Given the description of an element on the screen output the (x, y) to click on. 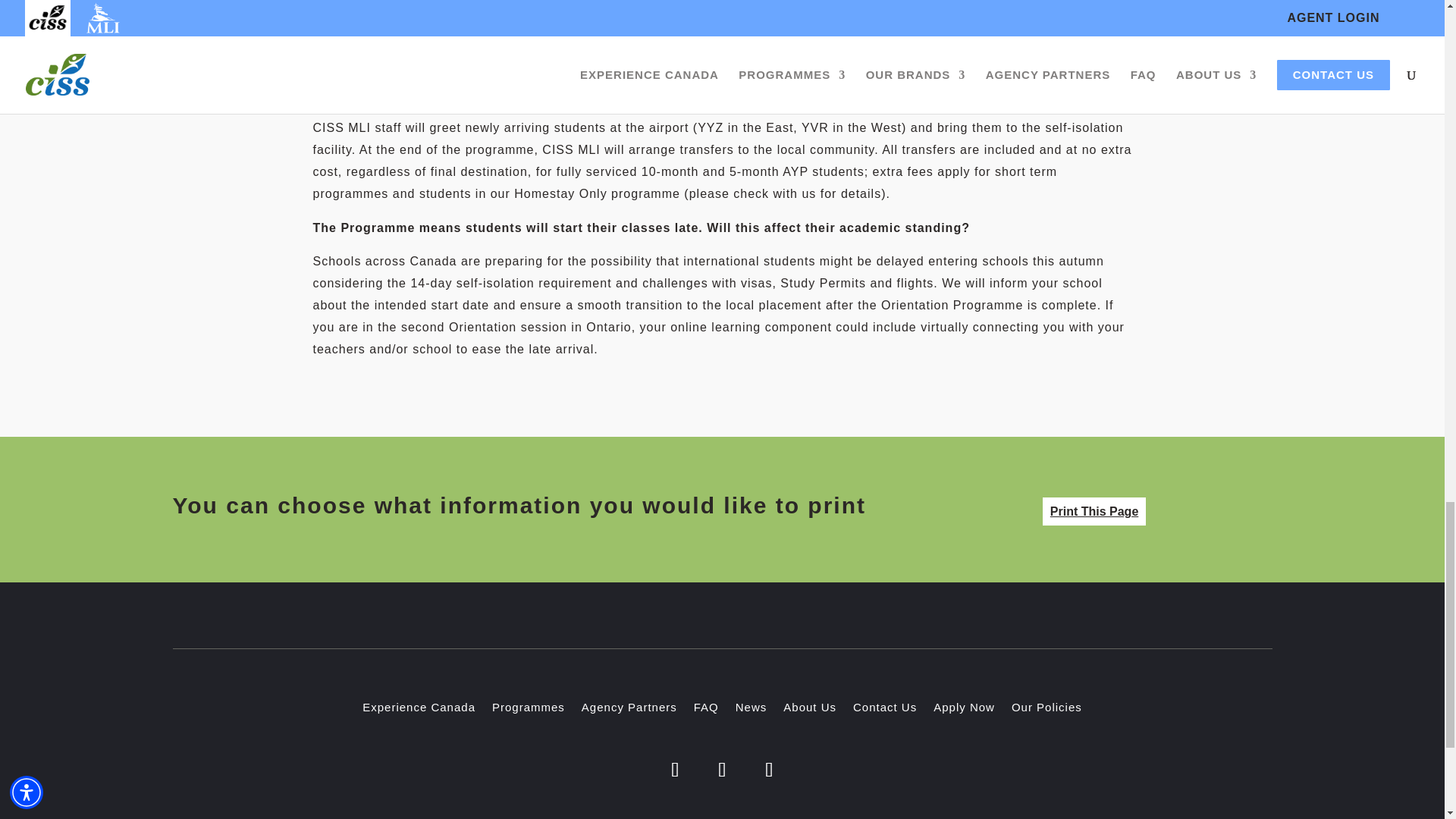
Follow on Facebook (675, 769)
Follow on Instagram (721, 769)
Follow on Youtube (769, 769)
